Given the description of an element on the screen output the (x, y) to click on. 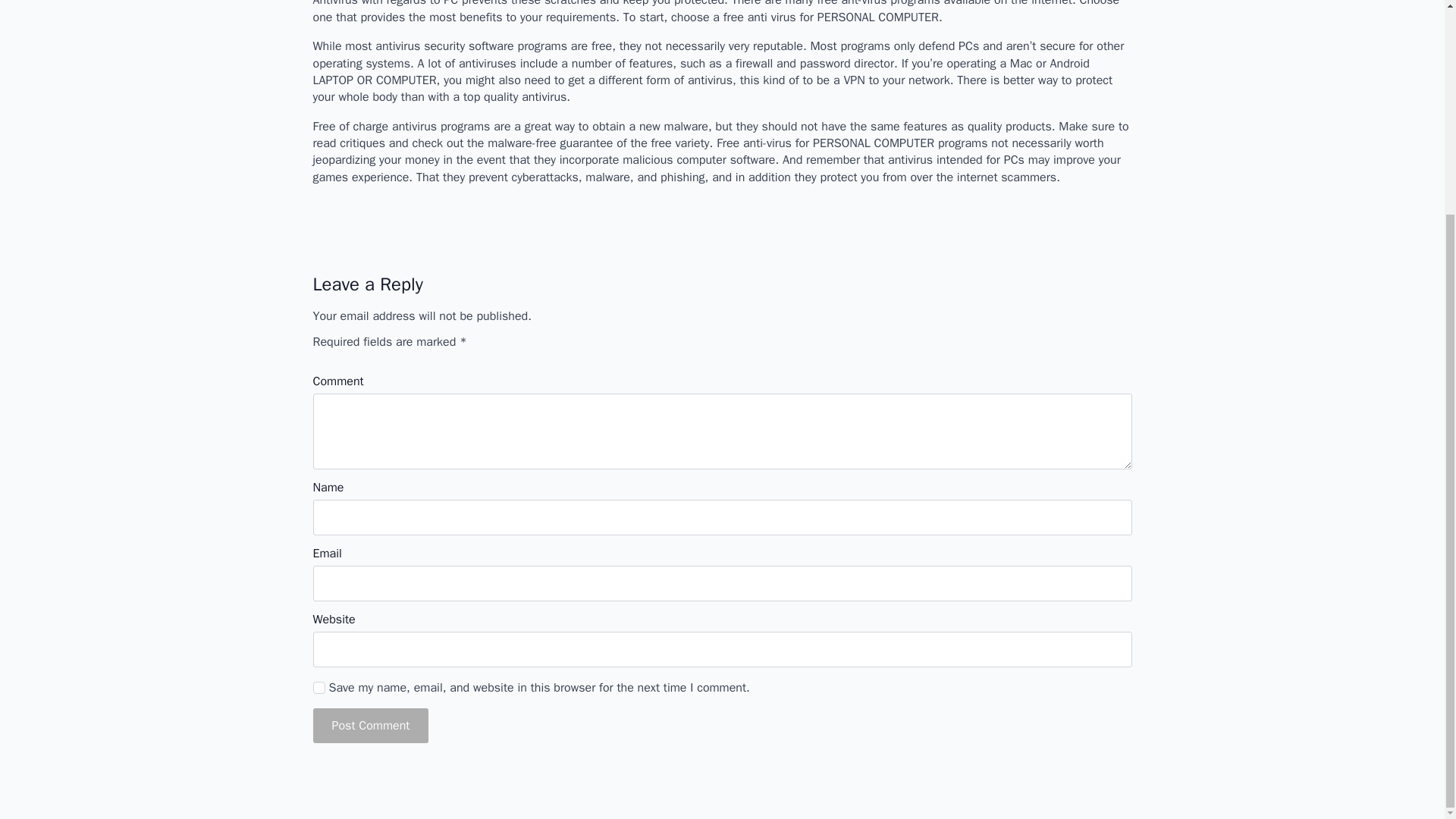
Post Comment (370, 725)
yes (318, 687)
Post Comment (370, 725)
